Given the description of an element on the screen output the (x, y) to click on. 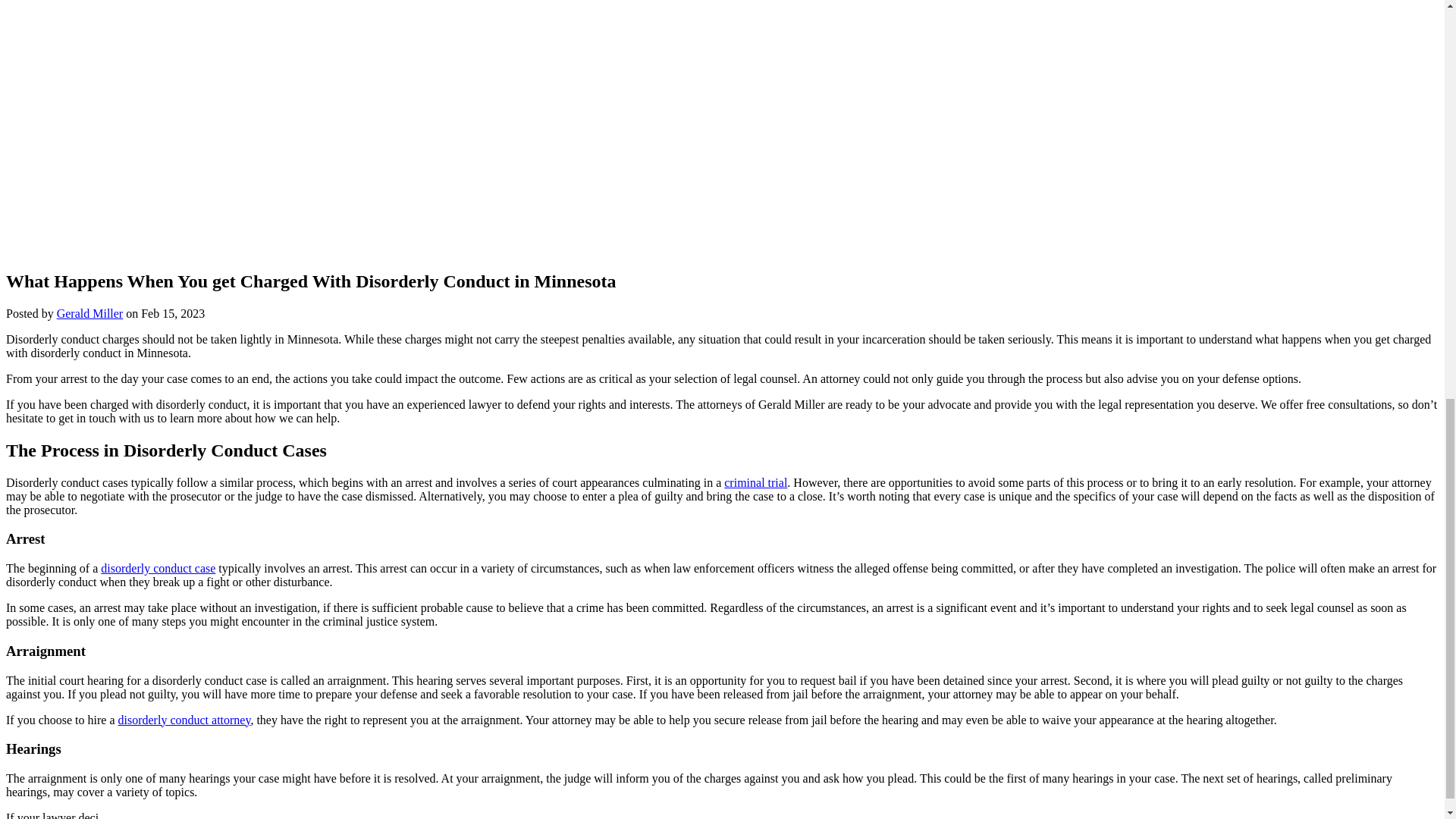
Gerald Miller (89, 313)
disorderly conduct attorney (183, 719)
Posts by Gerald Miller (89, 313)
disorderly conduct case (157, 567)
criminal trial (755, 481)
